Given the description of an element on the screen output the (x, y) to click on. 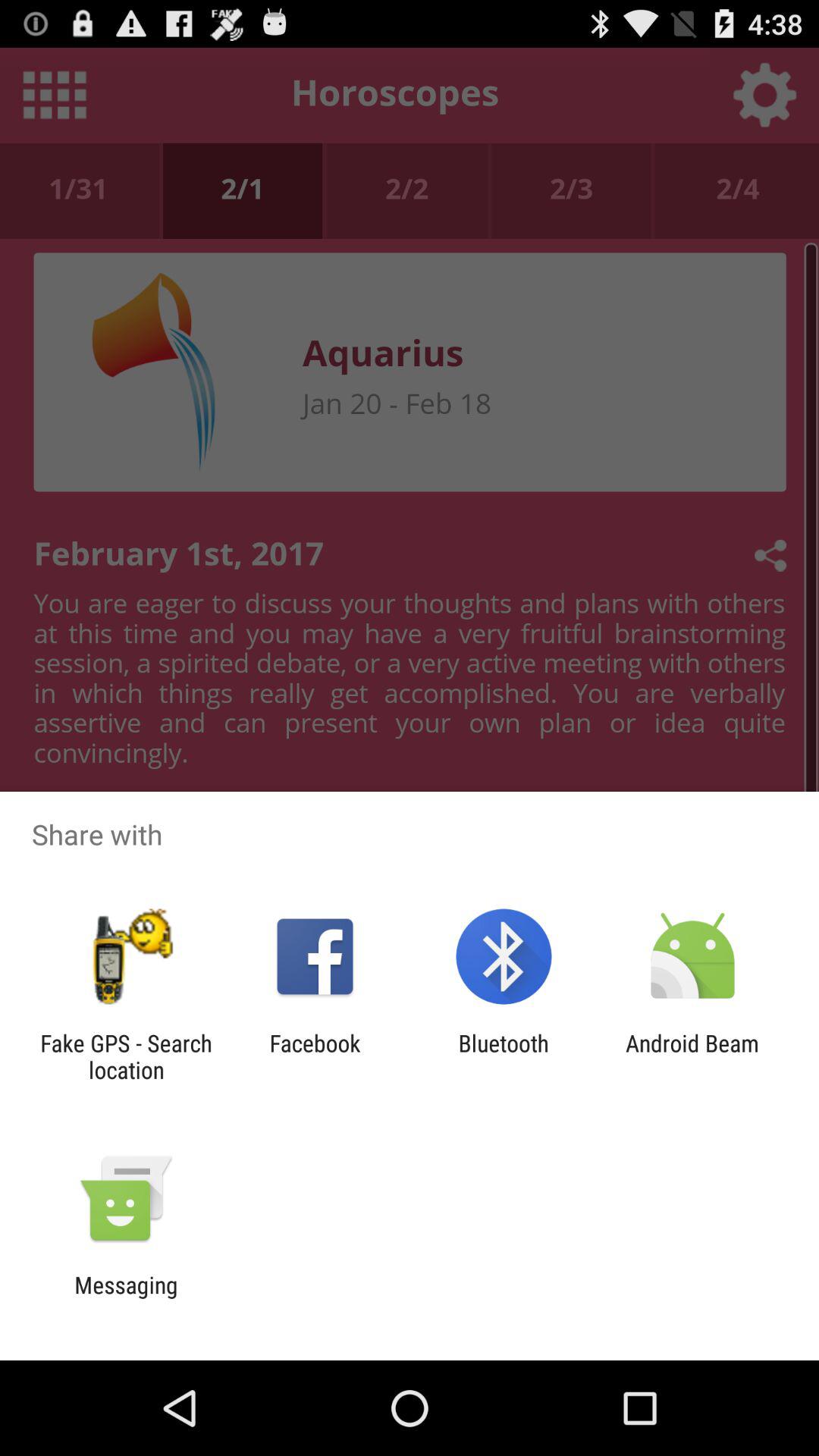
scroll to the fake gps search app (125, 1056)
